Given the description of an element on the screen output the (x, y) to click on. 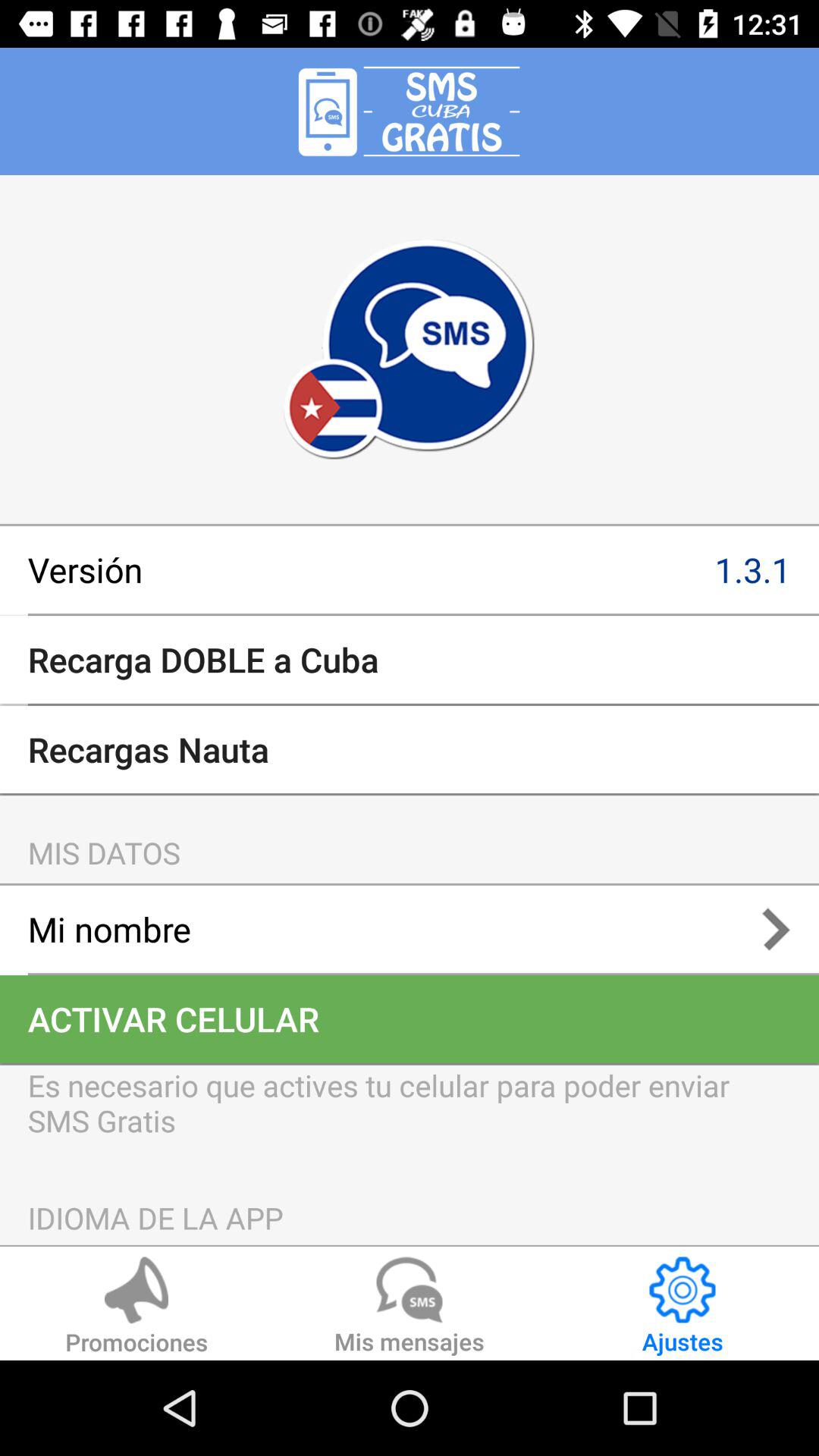
open icon to the left of the mis mensajes button (136, 1308)
